Given the description of an element on the screen output the (x, y) to click on. 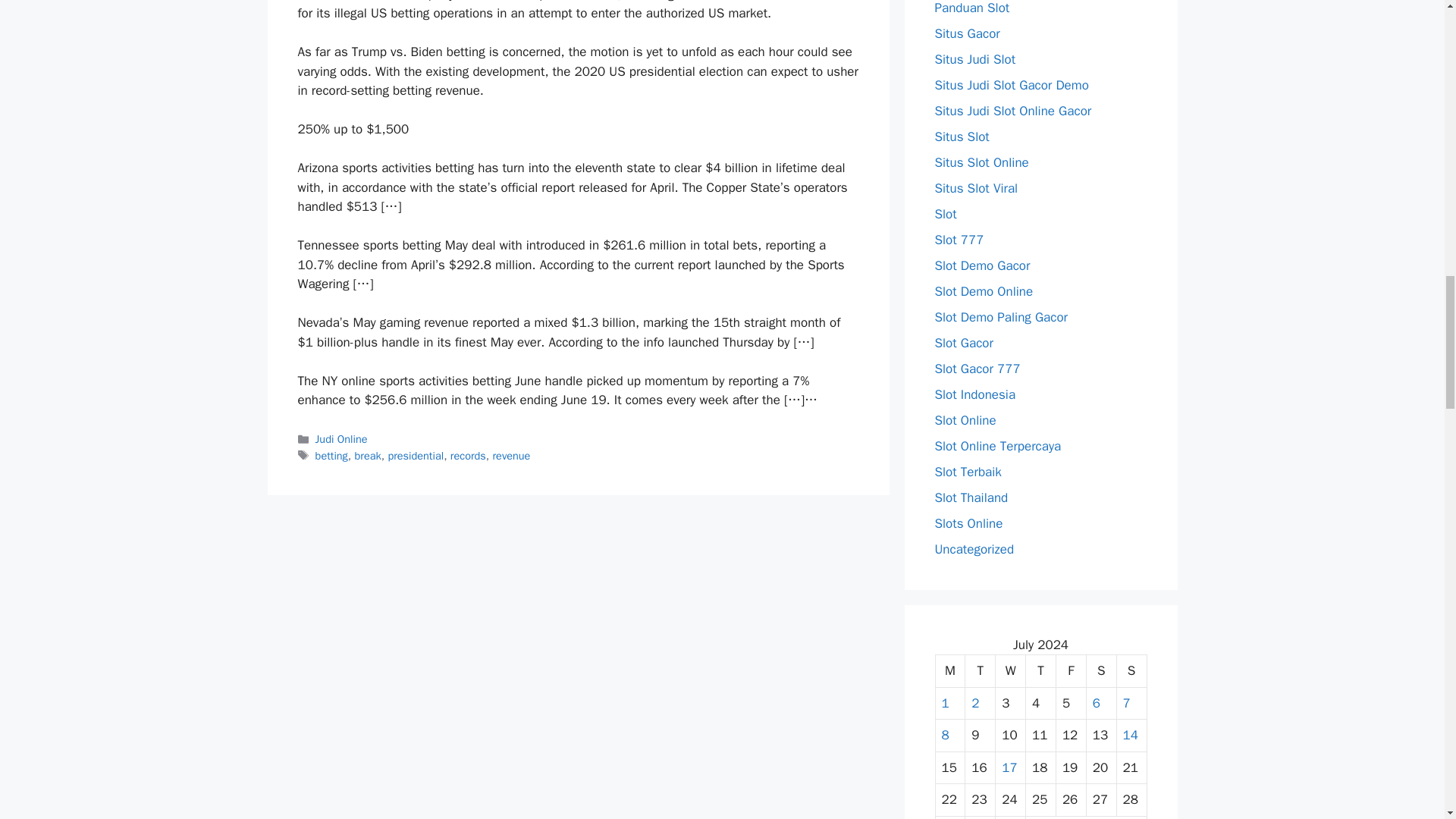
betting (331, 455)
Monday (951, 671)
Judi Online (341, 438)
Wednesday (1010, 671)
revenue (512, 455)
records (467, 455)
Thursday (1041, 671)
Saturday (1101, 671)
Tuesday (980, 671)
Sunday (1131, 671)
Friday (1071, 671)
break (368, 455)
presidential (415, 455)
